Given the description of an element on the screen output the (x, y) to click on. 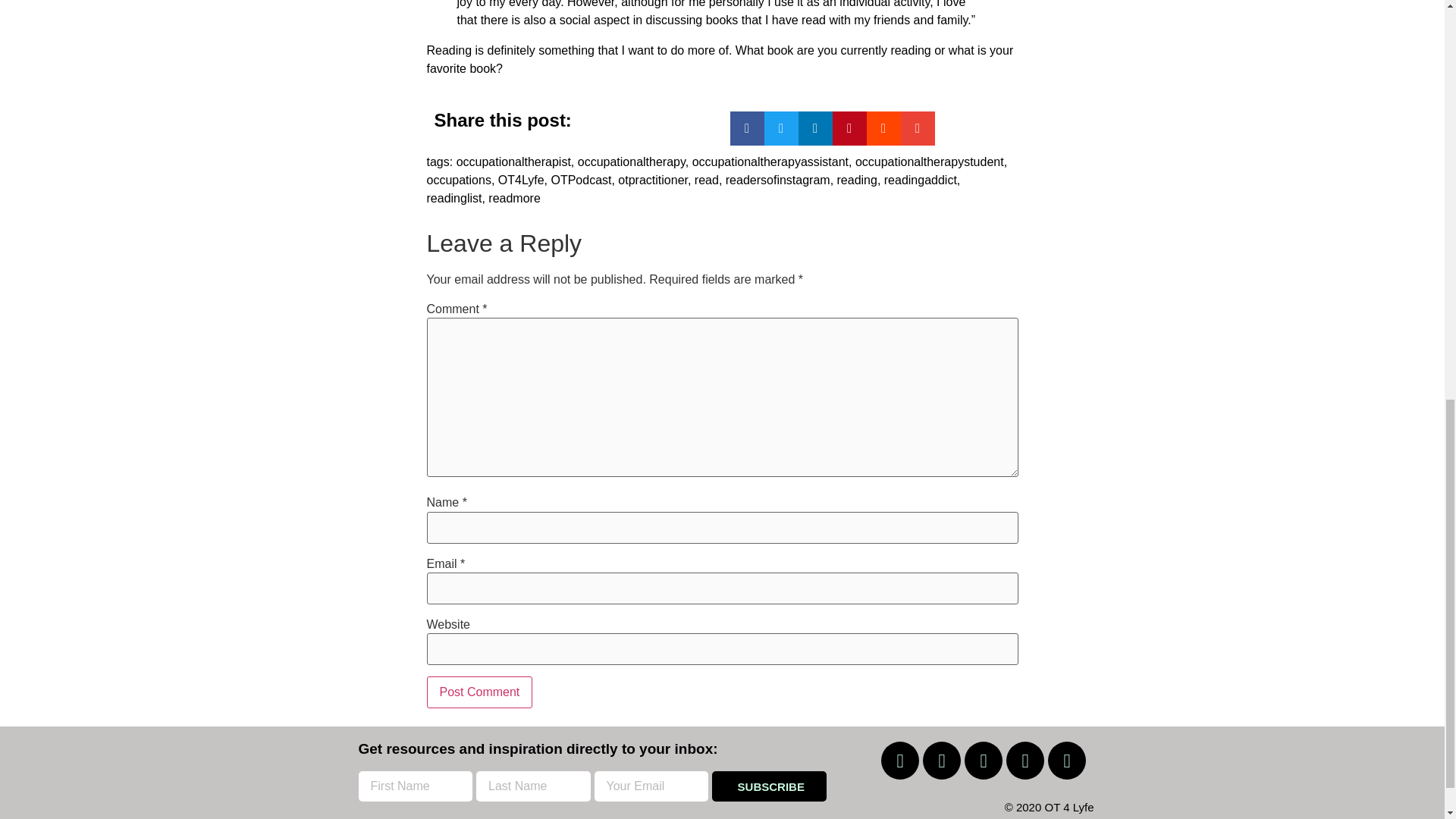
Post Comment (479, 692)
